Given the description of an element on the screen output the (x, y) to click on. 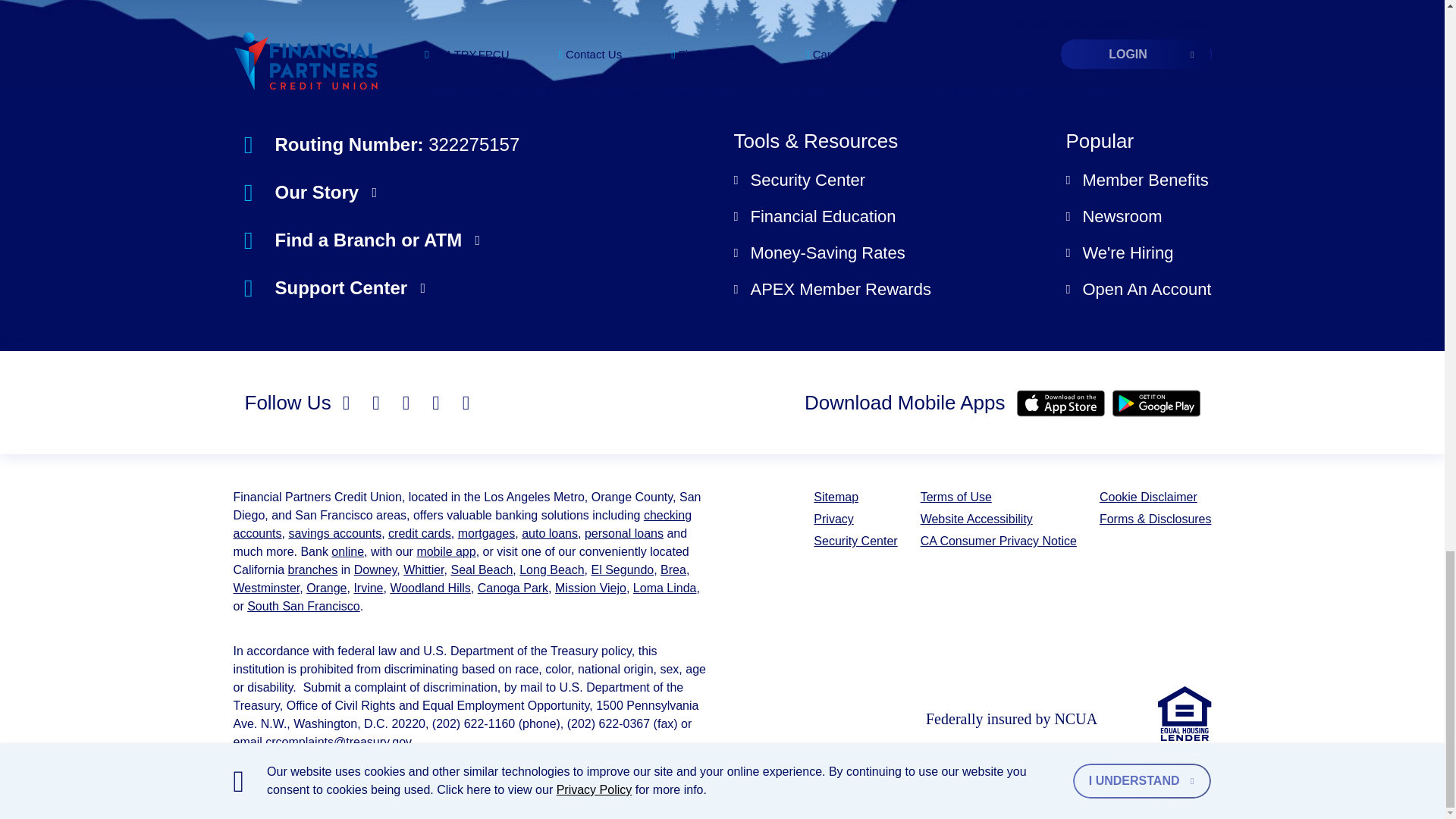
Federally insured by NCUA (1031, 716)
